Given the description of an element on the screen output the (x, y) to click on. 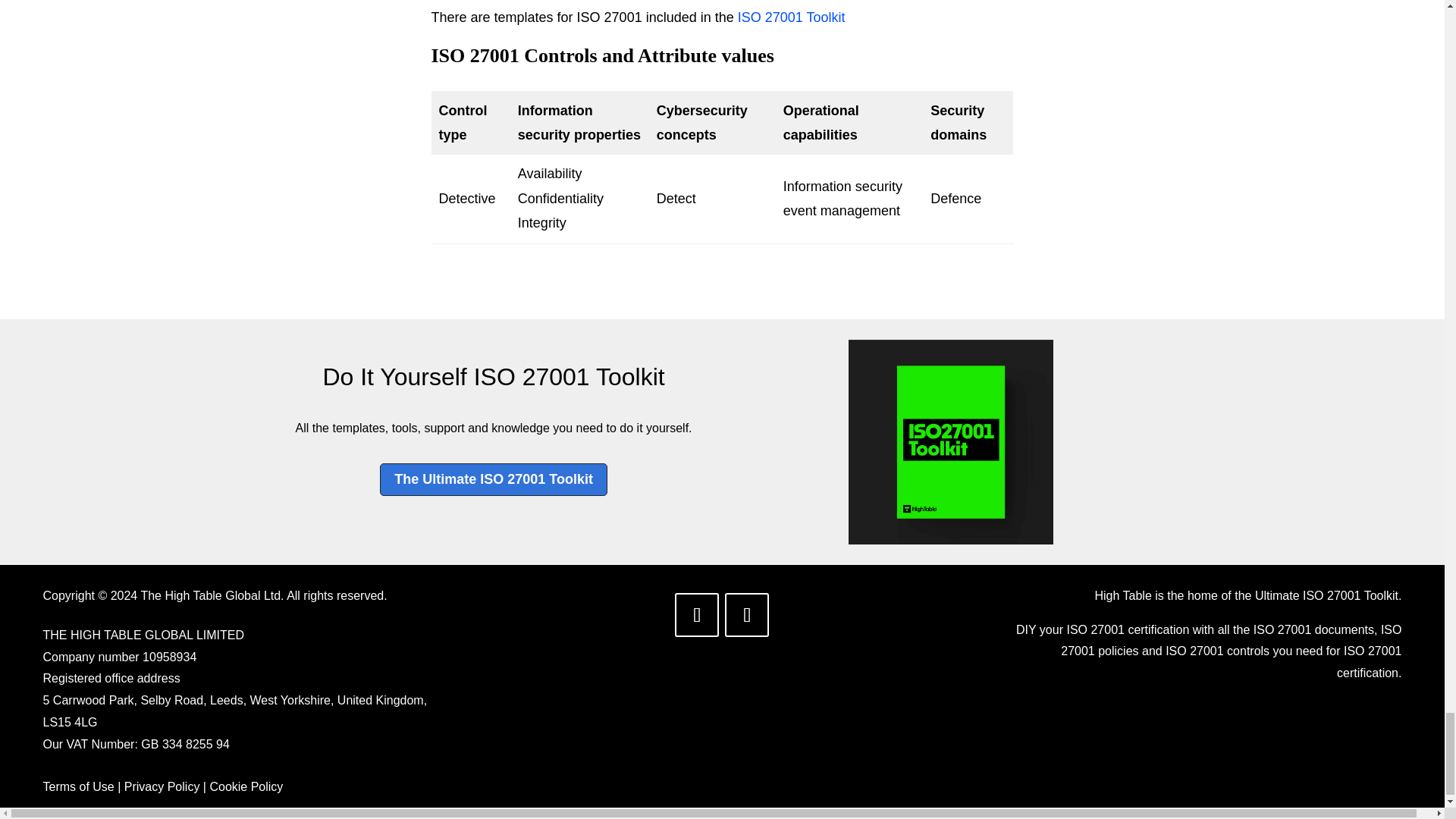
Follow on LinkedIn (697, 614)
ISO 27001 Toolkit Business Edition (950, 441)
Follow on Instagram (746, 614)
